Given the description of an element on the screen output the (x, y) to click on. 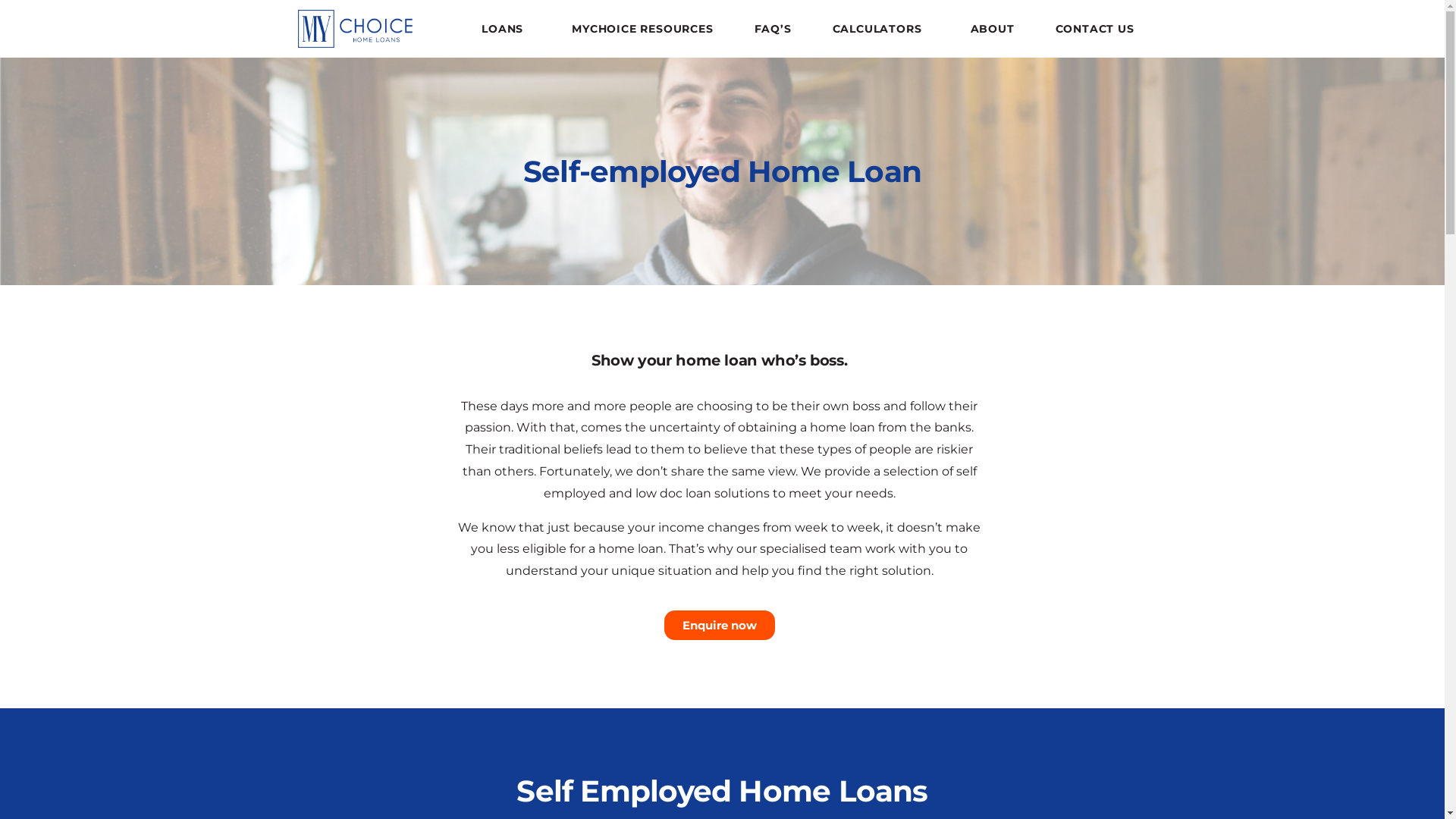
ABOUT Element type: text (991, 28)
CALCULATORS Element type: text (881, 28)
Enquire now Element type: text (719, 625)
MYCHOICE RESOURCES Element type: text (642, 28)
LOANS Element type: text (506, 28)
CONTACT US Element type: text (1094, 28)
